Given the description of an element on the screen output the (x, y) to click on. 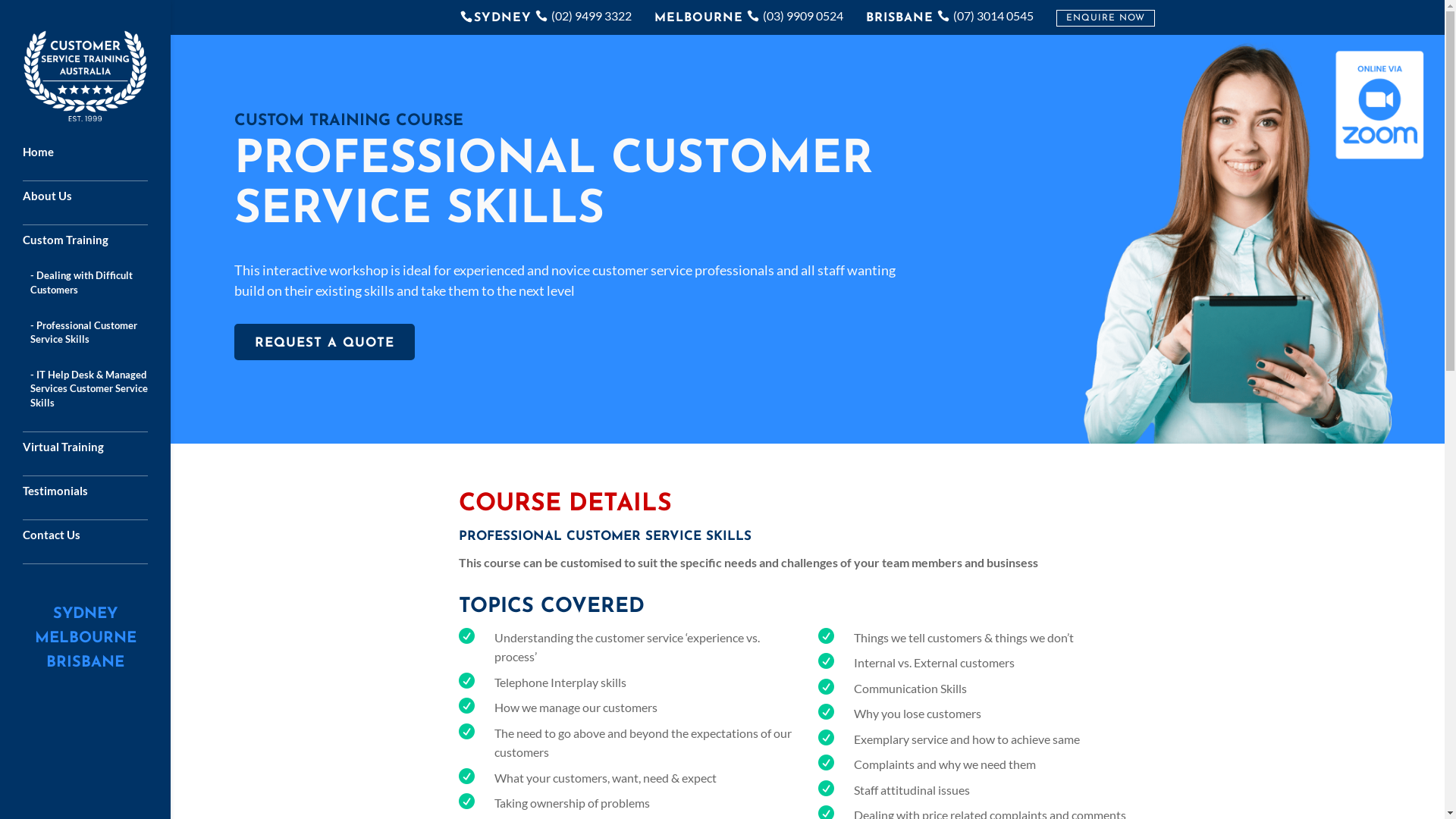
Virtual Training Element type: text (100, 453)
Home Element type: text (100, 158)
Testimonials Element type: text (100, 497)
REQUEST A QUOTE Element type: text (324, 341)
Contact Us Element type: text (100, 541)
Dealing with Difficult Customers Element type: text (104, 289)
Custom Training Element type: text (100, 246)
About Us Element type: text (100, 202)
ENQUIRE NOW Element type: text (1105, 17)
Professional Customer Service Skills Element type: text (104, 339)
IT Help Desk & Managed Services Customer Service Skills Element type: text (104, 395)
